Given the description of an element on the screen output the (x, y) to click on. 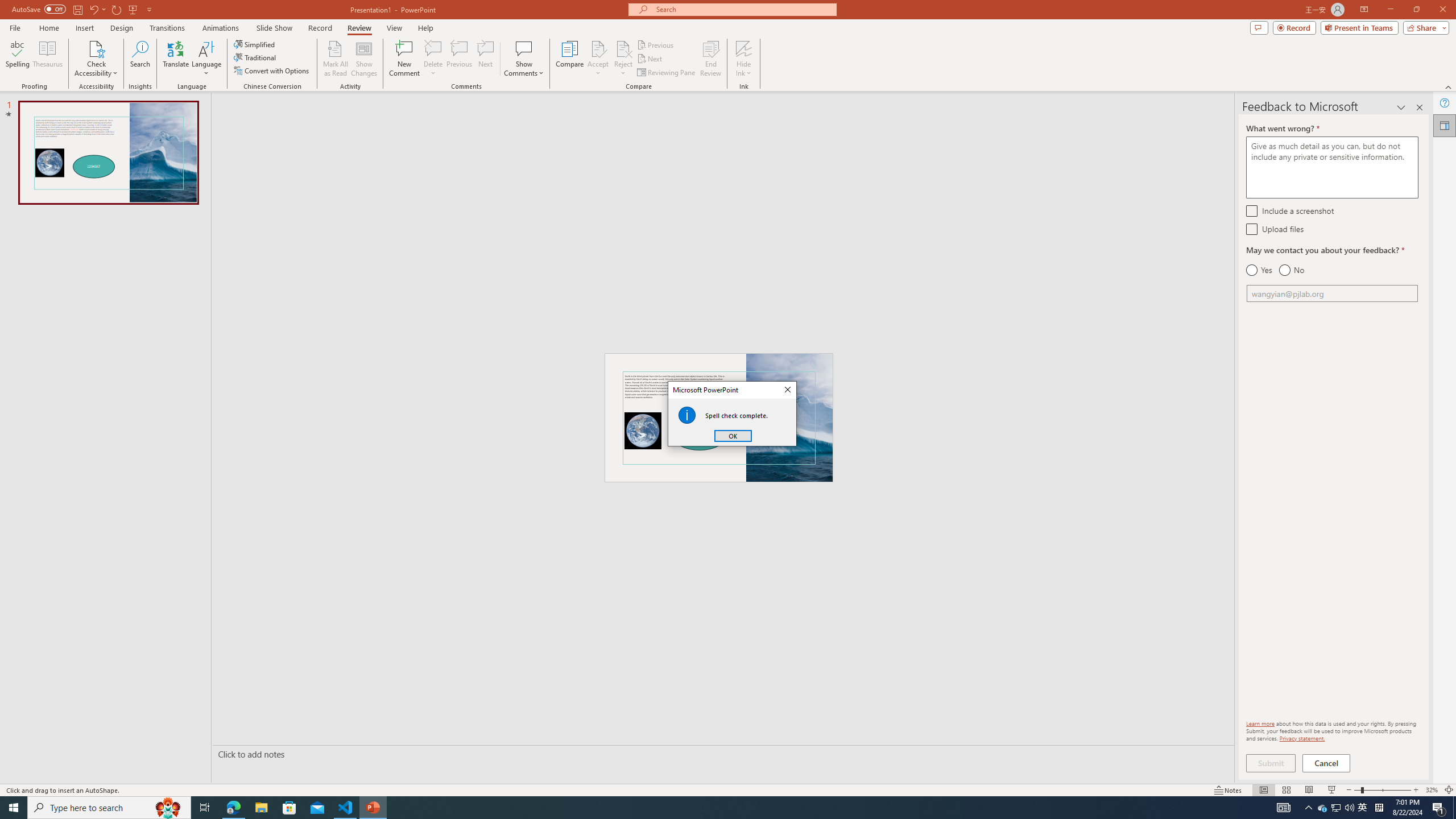
Search (140, 58)
Show Comments (524, 48)
Running applications (700, 807)
Reviewing Pane (666, 72)
Notes  (1227, 790)
Accept Change (598, 48)
Check Accessibility (95, 48)
OK (732, 435)
User Promoted Notification Area (1336, 807)
Microsoft search (742, 9)
Delete (432, 58)
Delete (432, 48)
